Given the description of an element on the screen output the (x, y) to click on. 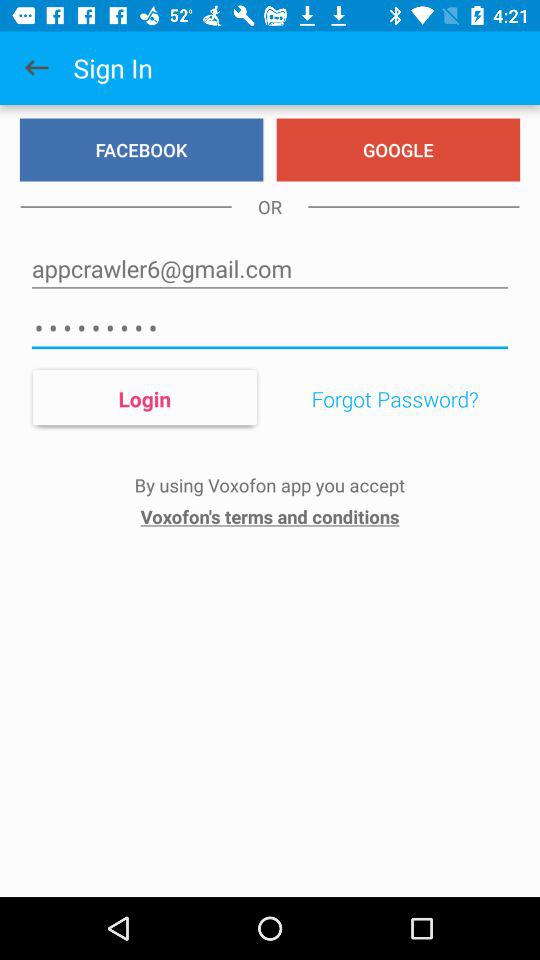
click item next to facebook (398, 149)
